Given the description of an element on the screen output the (x, y) to click on. 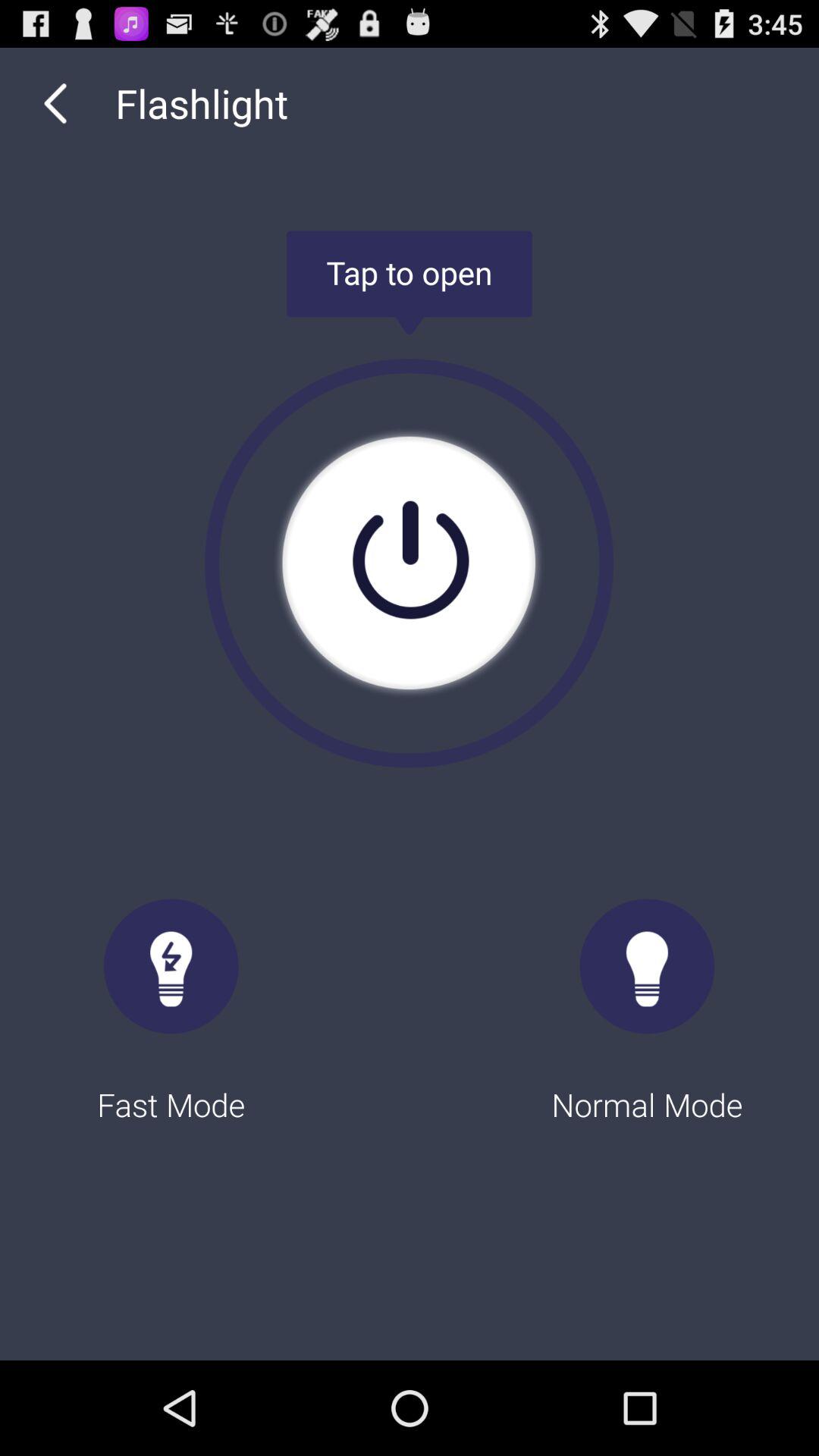
turn on the icon at the bottom right corner (647, 996)
